Given the description of an element on the screen output the (x, y) to click on. 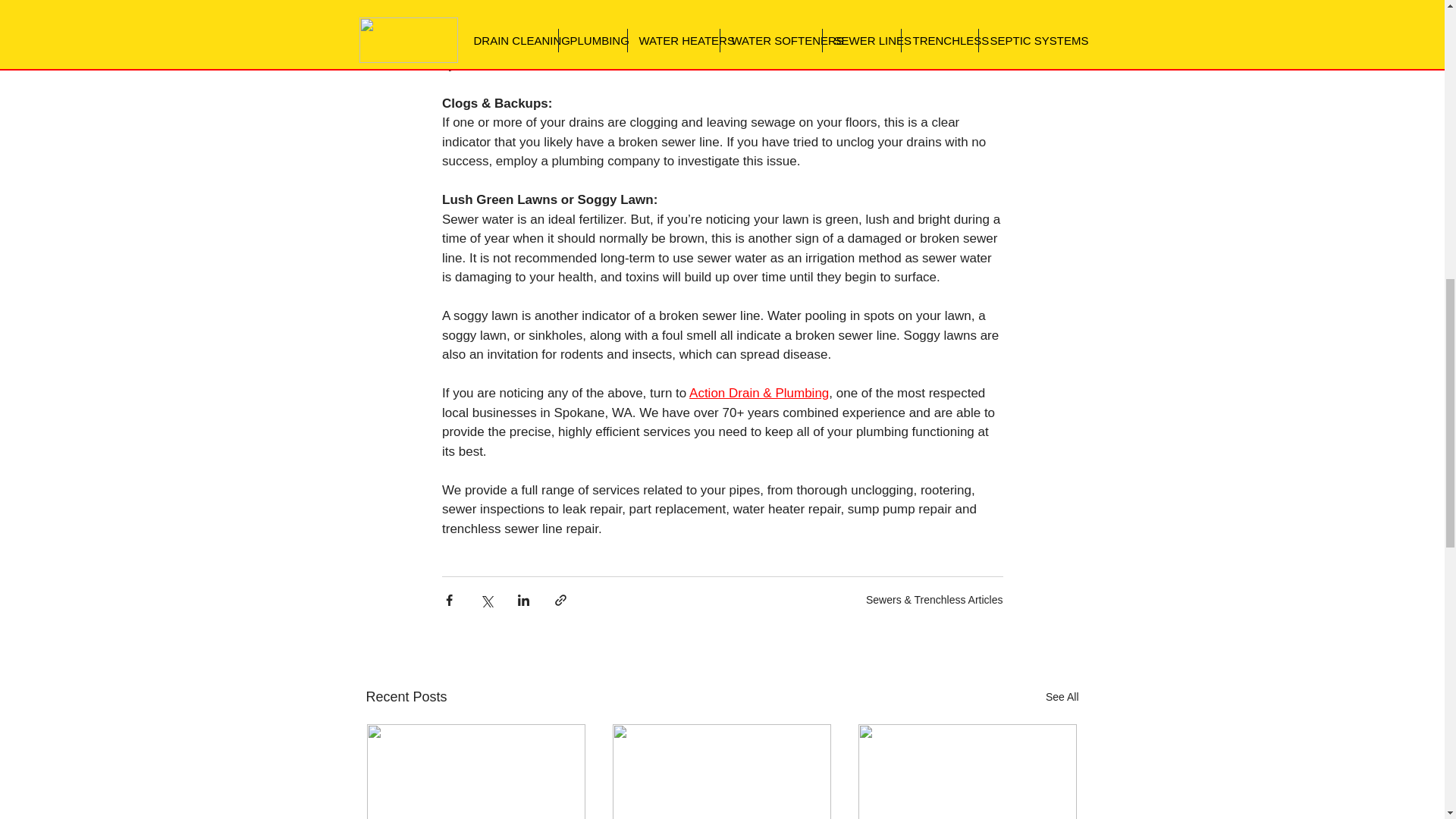
See All (1061, 697)
